Given the description of an element on the screen output the (x, y) to click on. 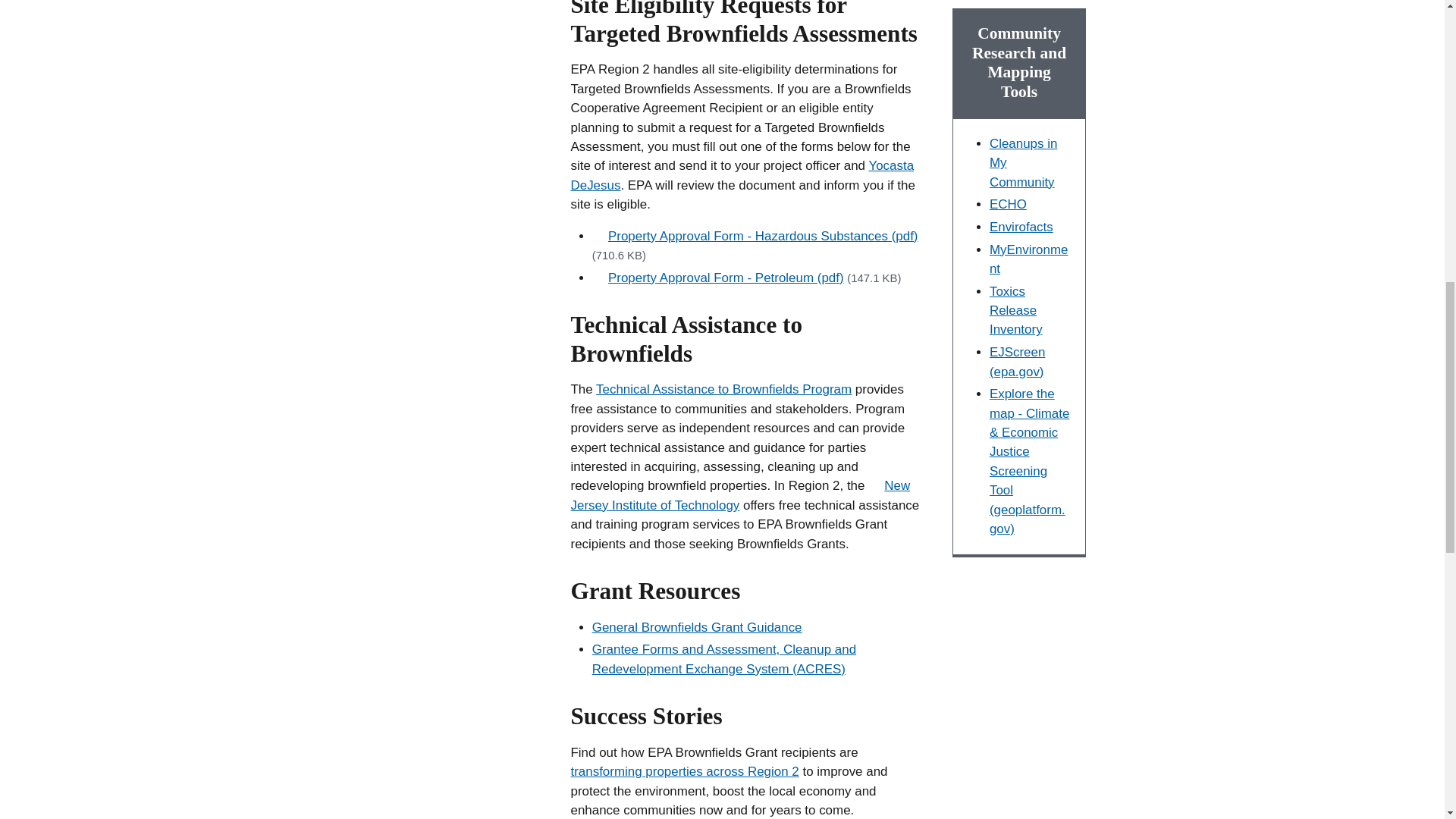
transforming properties across Region 2 (683, 771)
Technical Assistance to Brownfields Program (723, 389)
Yocasta DeJesus (742, 174)
ECHO (1008, 204)
Toxics Release Inventory (1016, 310)
Envirofacts (1021, 227)
MyEnvironment (1029, 259)
General Brownfields Grant Guidance (697, 626)
Cleanups in My Community (1023, 162)
New Jersey Institute of Technology (740, 494)
